Given the description of an element on the screen output the (x, y) to click on. 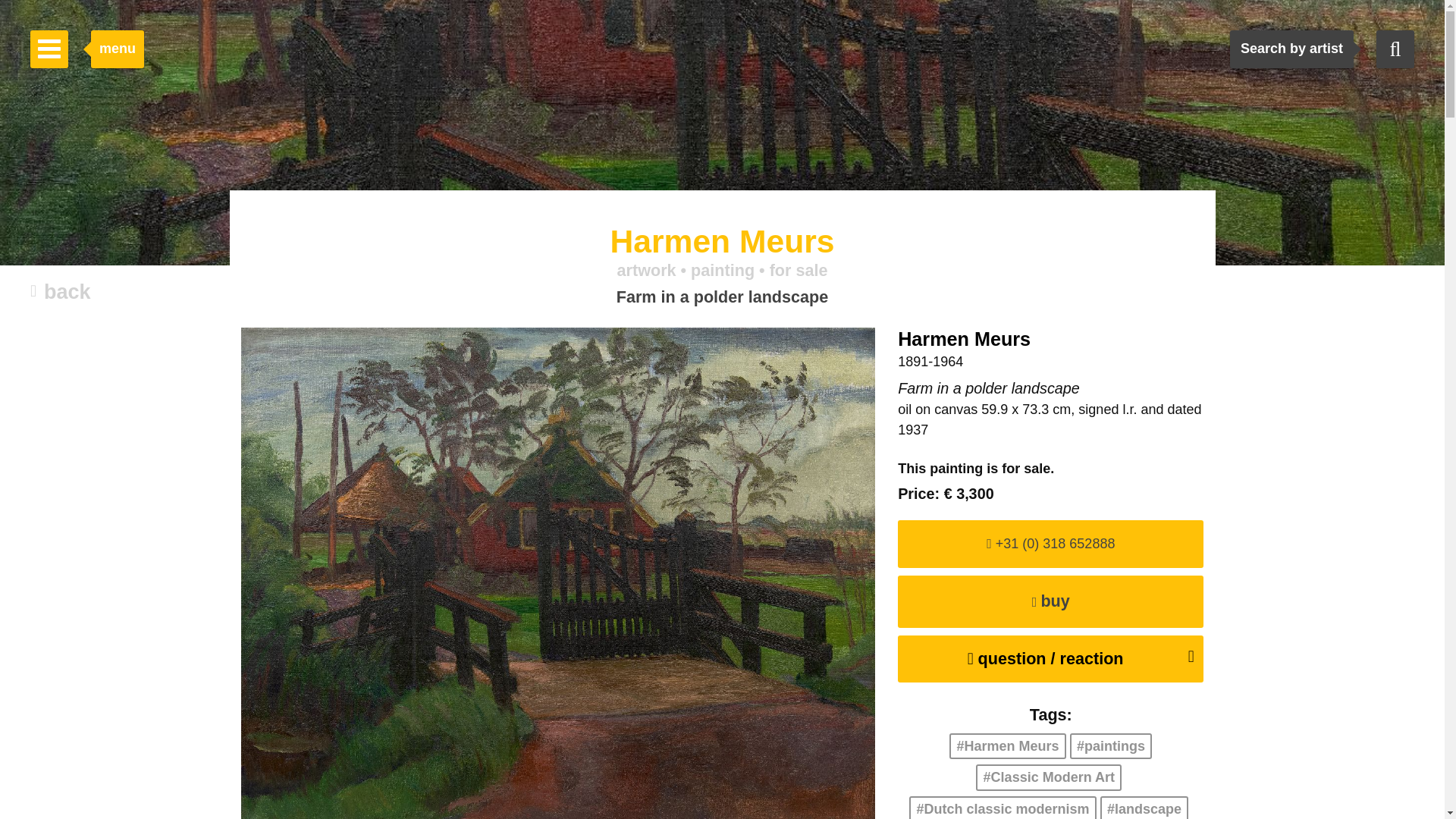
back (60, 291)
